Given the description of an element on the screen output the (x, y) to click on. 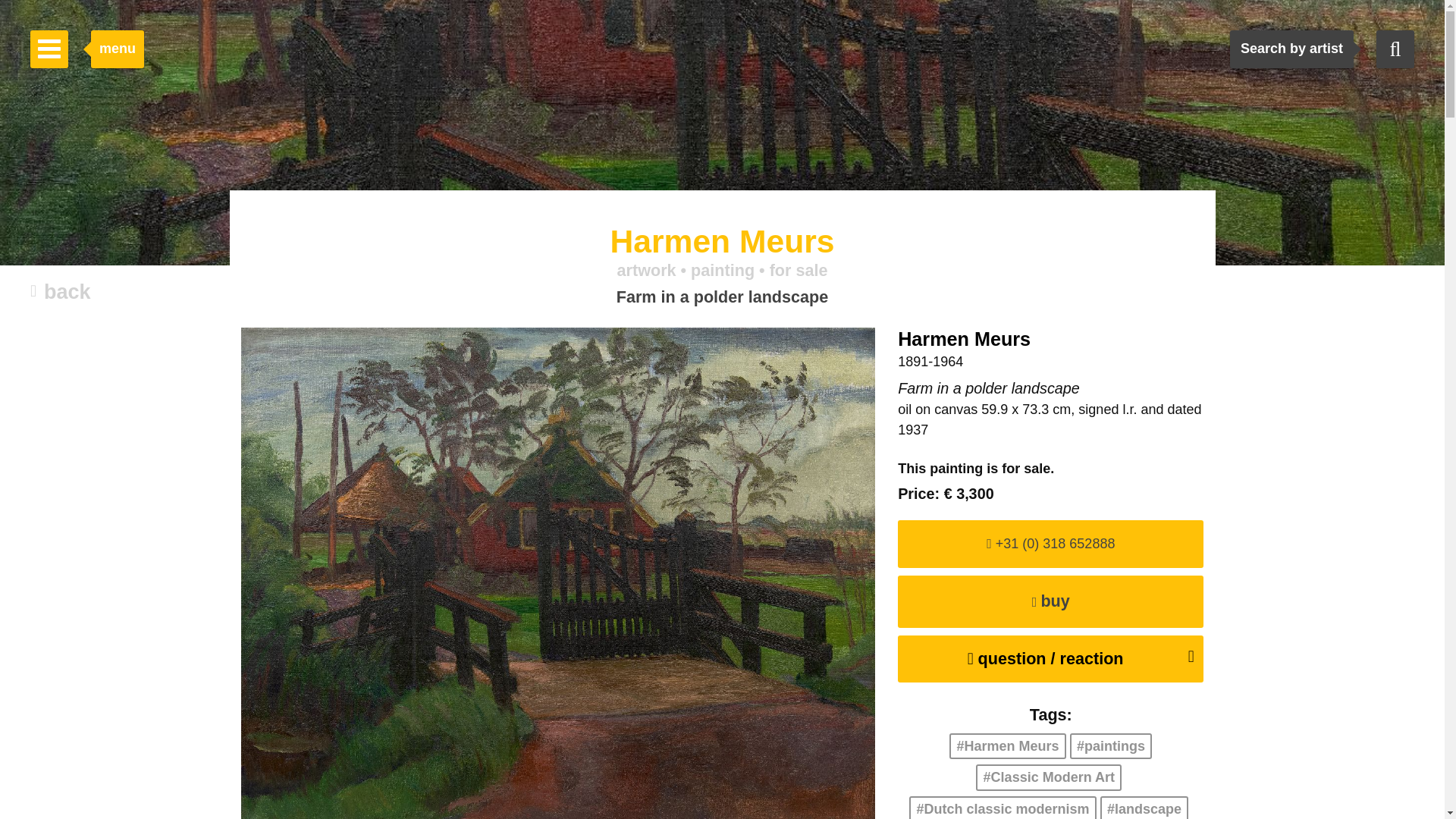
back (60, 291)
